Given the description of an element on the screen output the (x, y) to click on. 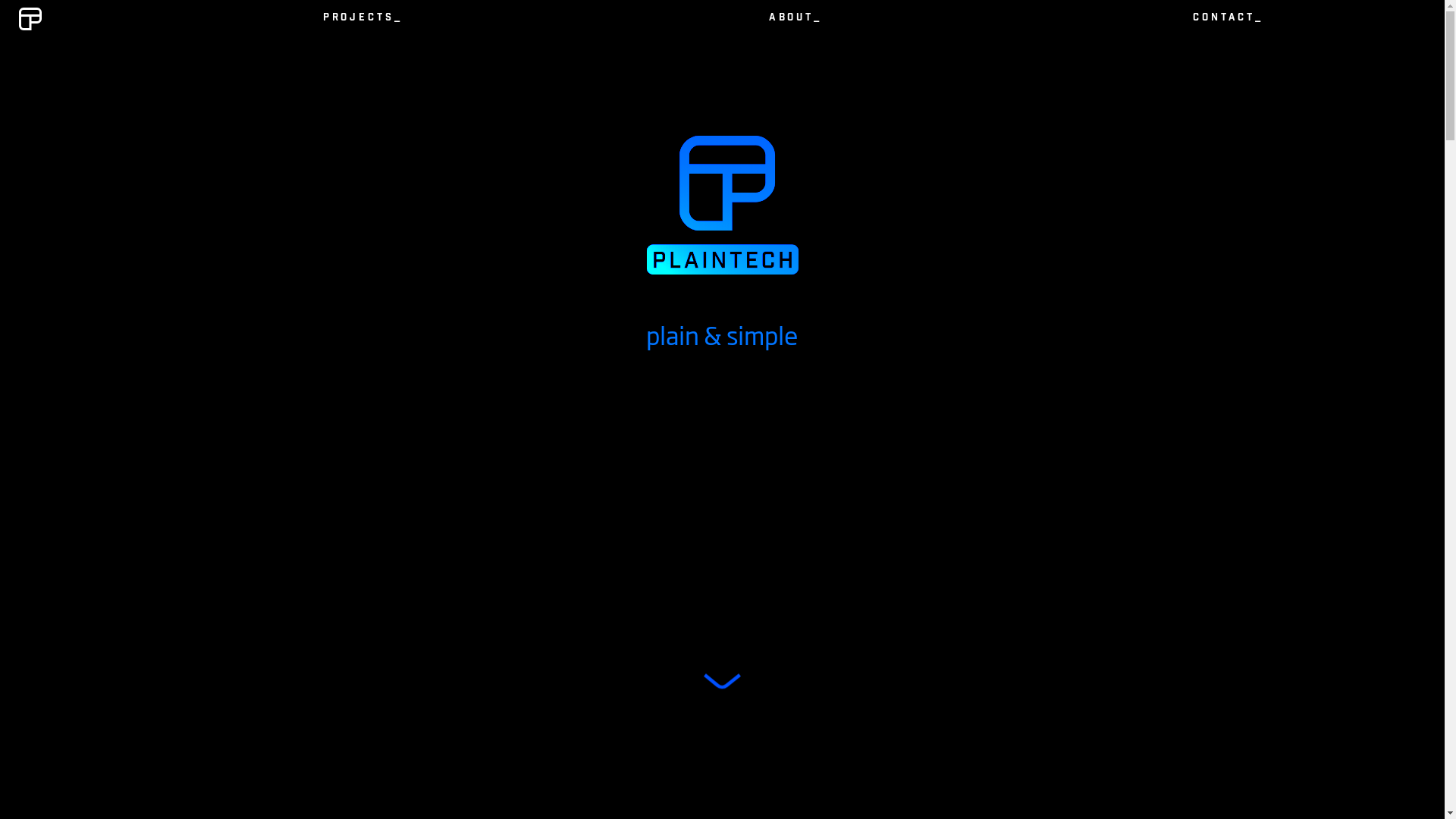
PROJECTS Element type: text (362, 18)
ABOUT Element type: text (794, 18)
CONTACT Element type: text (1227, 18)
